Given the description of an element on the screen output the (x, y) to click on. 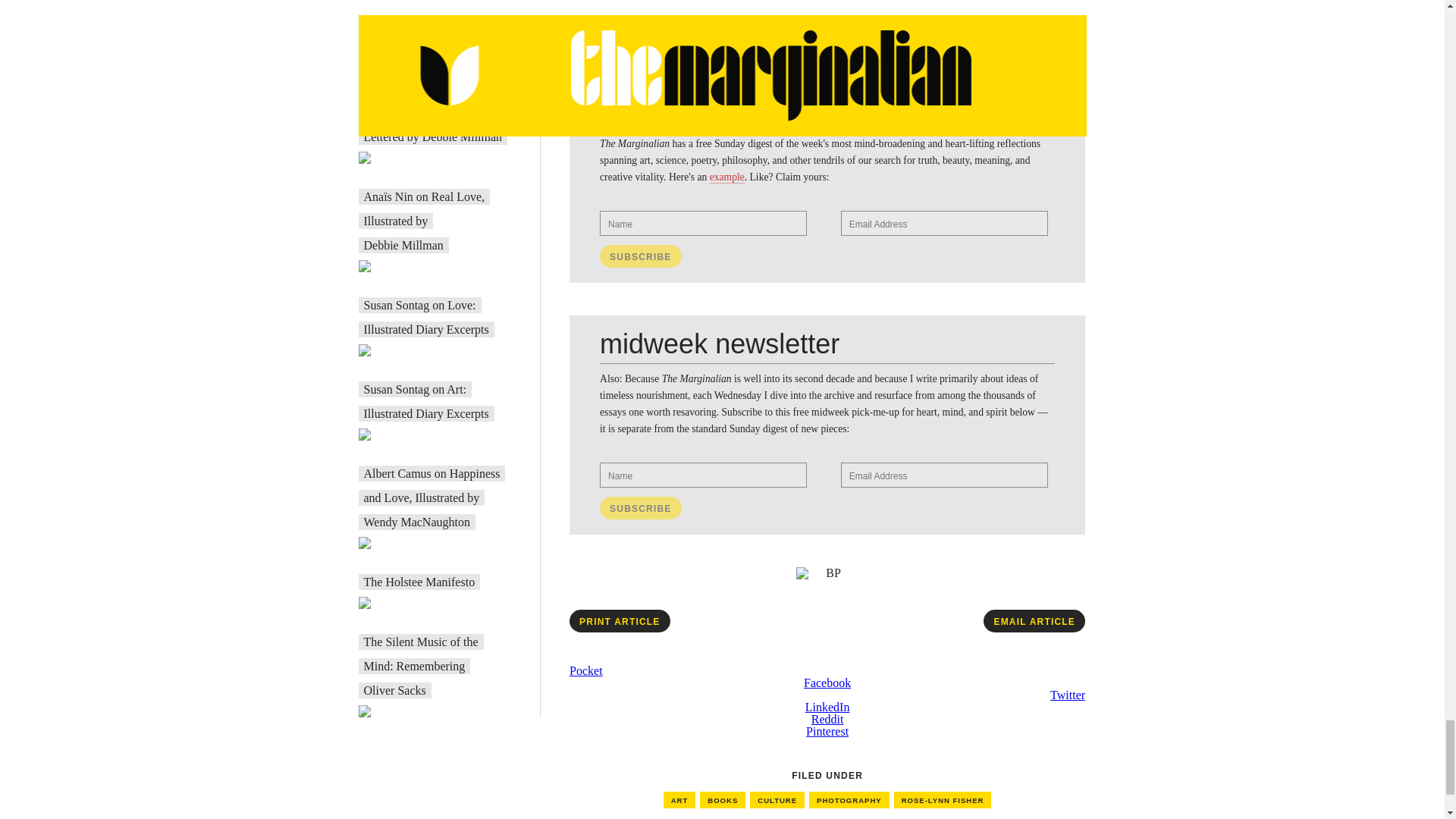
Click to share on Pinterest (827, 730)
Click to share on Pocket (585, 670)
Subscribe (640, 255)
Click to share on Facebook (826, 682)
Click to share on Twitter (1066, 694)
Click to share on Reddit (827, 718)
Subscribe (640, 507)
Click to share on LinkedIn (827, 707)
